Given the description of an element on the screen output the (x, y) to click on. 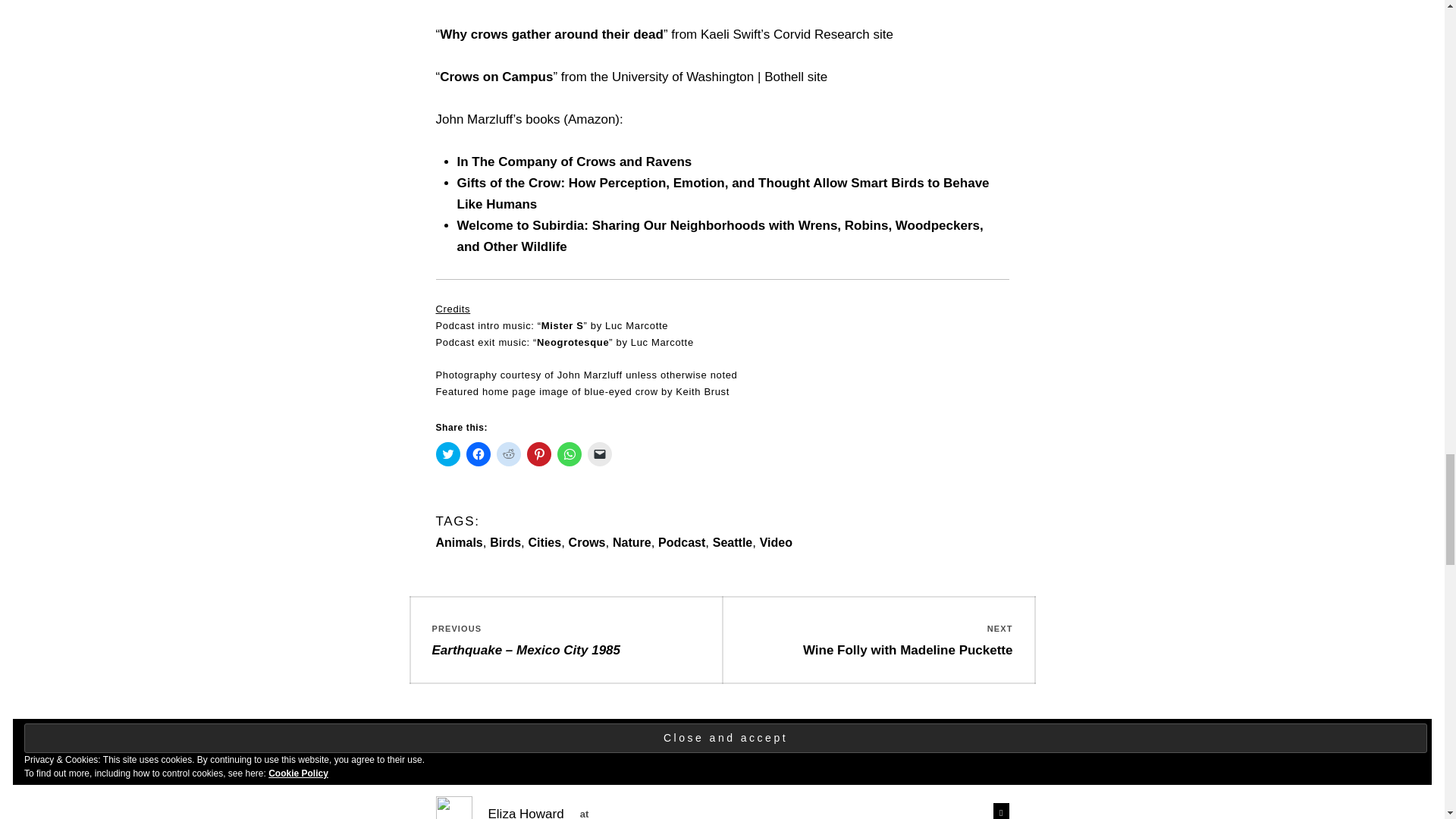
Podcast (681, 542)
In The Company of Crows and Ravens (574, 161)
Click to share on Reddit (507, 454)
Animals (458, 542)
Video (776, 542)
Click to share on WhatsApp (568, 454)
Seattle (732, 542)
Crows on Campus (496, 76)
Click to share on Pinterest (537, 454)
